Given the description of an element on the screen output the (x, y) to click on. 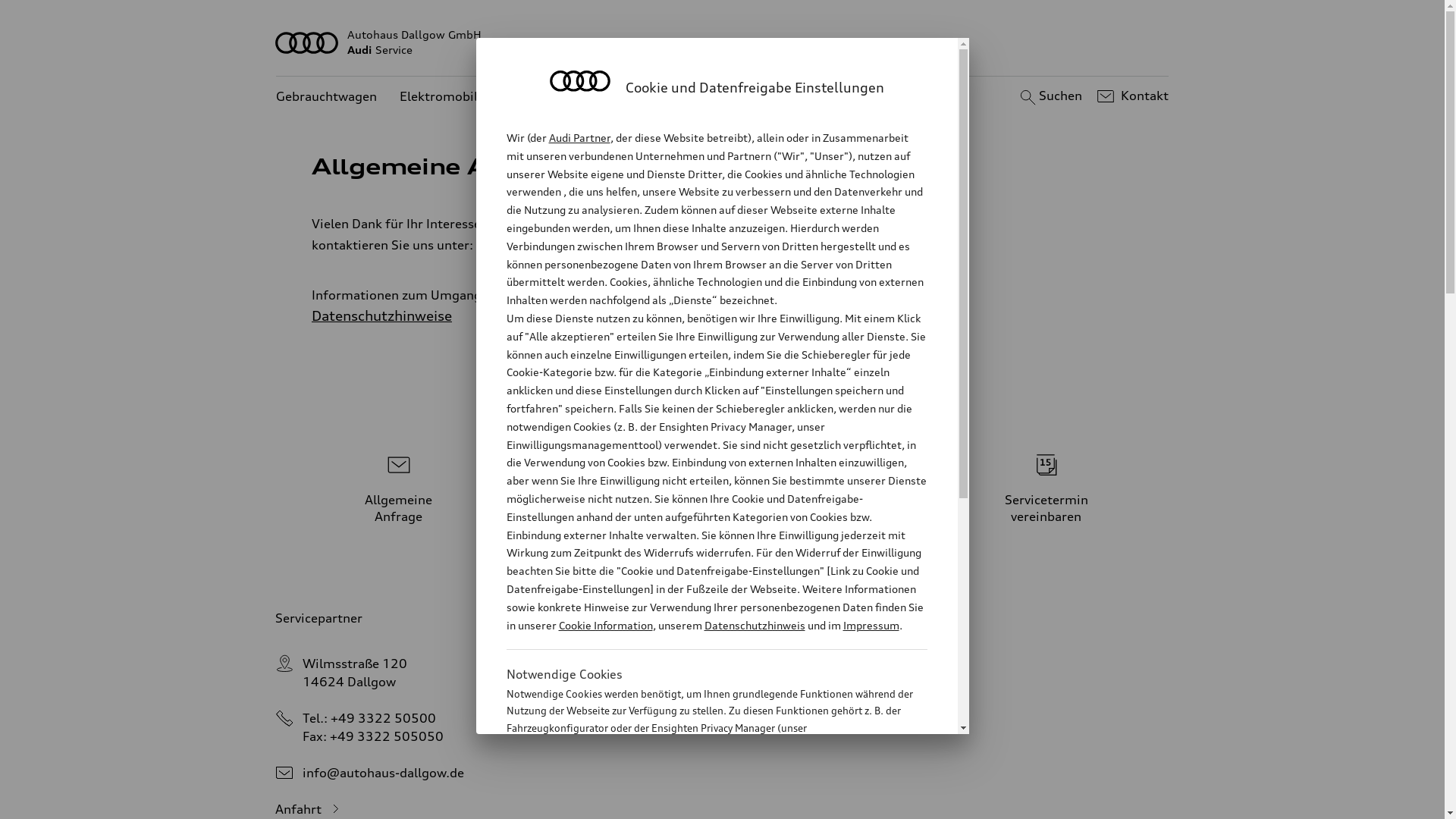
Audi Partner Element type: text (579, 137)
+49 3322 50500 Element type: text (383, 718)
Kundenservice Element type: text (645, 96)
Suchen Element type: text (1049, 96)
info@autohaus-dallgow.de Element type: text (383, 772)
Autohaus Dallgow GmbH
AudiService Element type: text (722, 42)
Datenschutzhinweis Element type: text (753, 624)
Anfahrt Element type: text (309, 809)
Cookie Information Element type: text (605, 624)
Servicetermin
vereinbaren Element type: text (1046, 485)
Angebote Element type: text (550, 96)
Kontakt Element type: text (1130, 96)
Allgemeine
Anfrage Element type: text (398, 485)
Serviceberater
kontaktieren Element type: text (722, 485)
Cookie Information Element type: text (700, 802)
Impressum Element type: text (871, 624)
Gebrauchtwagen Element type: text (326, 96)
